Given the description of an element on the screen output the (x, y) to click on. 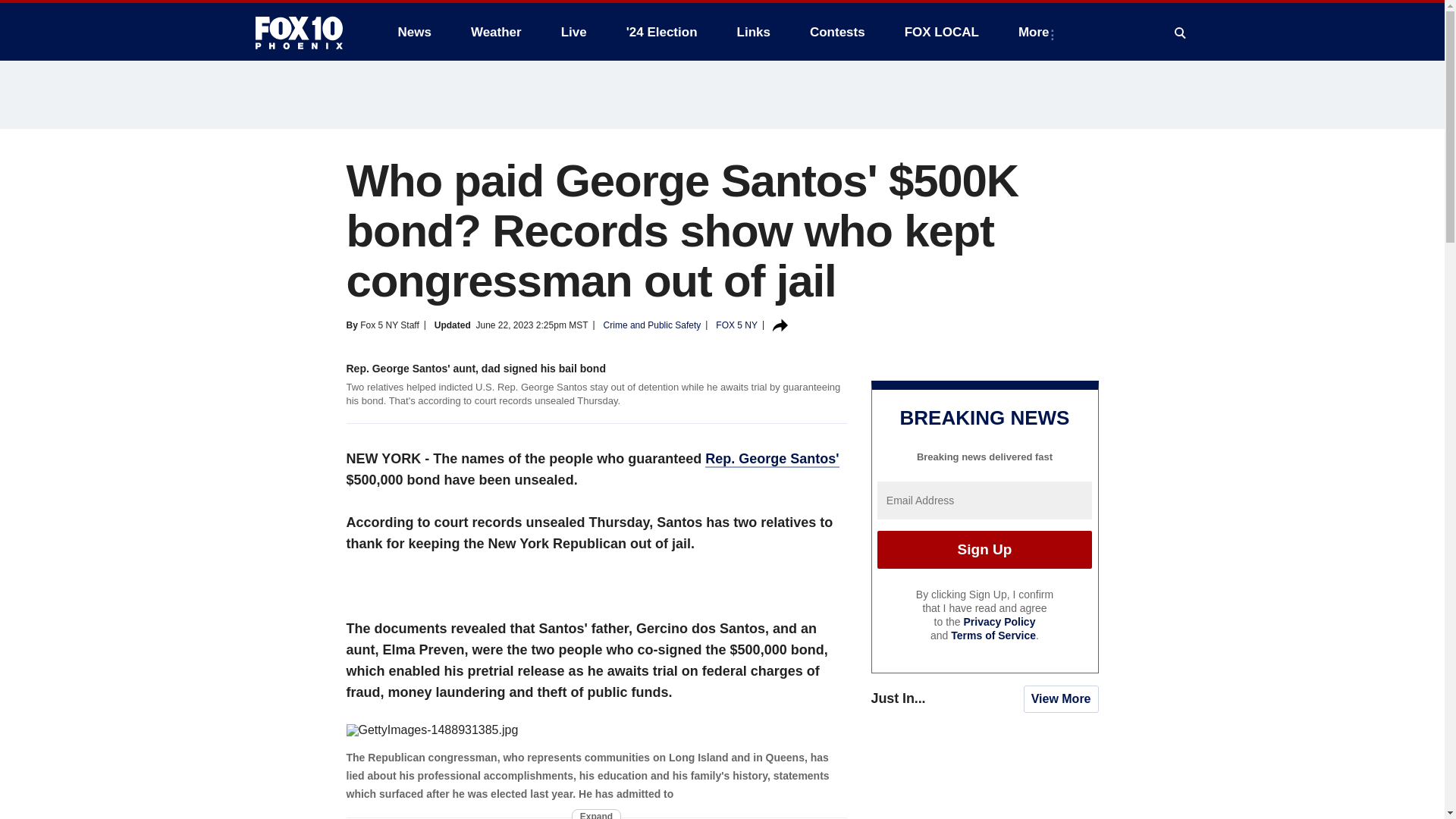
More (1036, 32)
Live (573, 32)
FOX LOCAL (941, 32)
Sign Up (984, 549)
Links (754, 32)
'24 Election (662, 32)
Weather (496, 32)
Contests (837, 32)
News (413, 32)
